Given the description of an element on the screen output the (x, y) to click on. 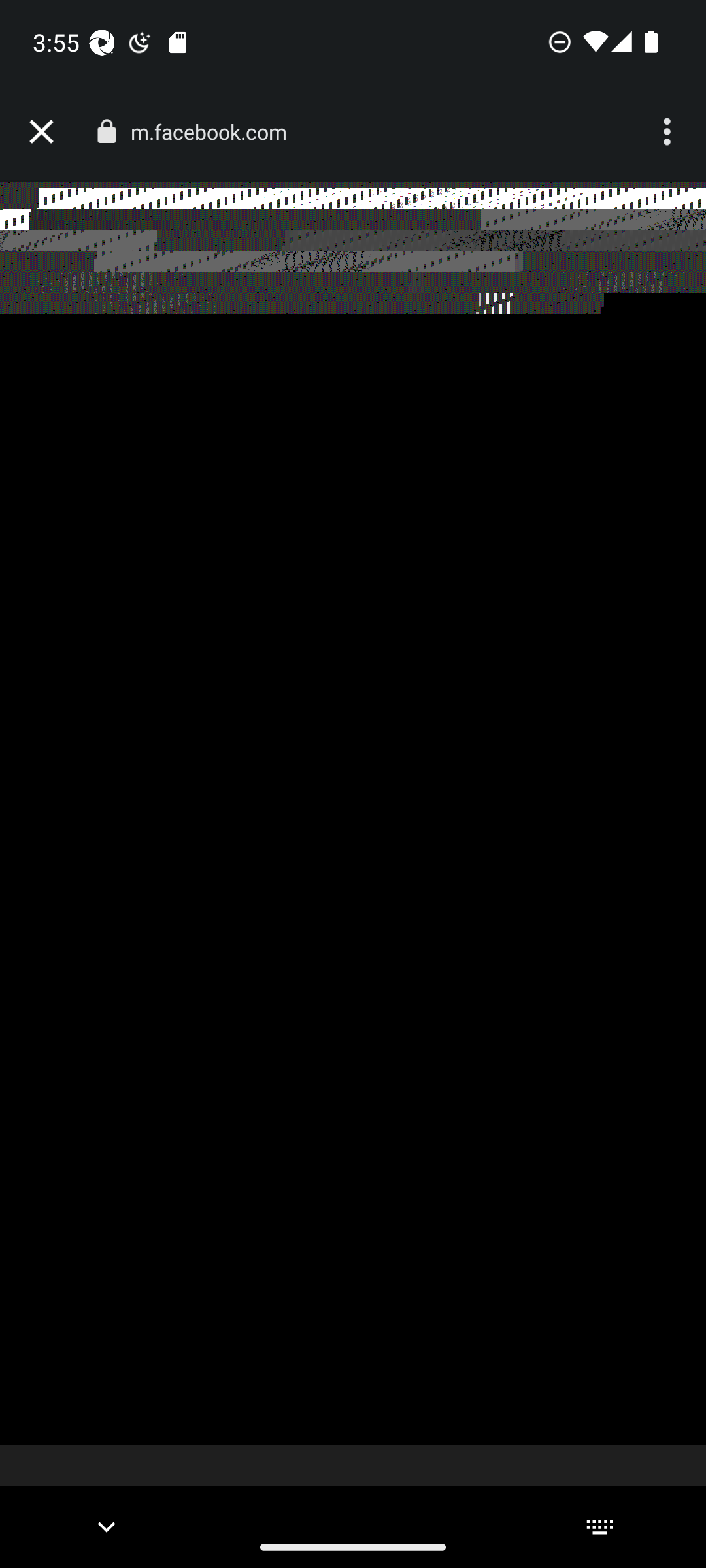
Close tab (41, 131)
More options (669, 131)
Connection is secure (106, 131)
m.facebook.com (215, 131)
